Given the description of an element on the screen output the (x, y) to click on. 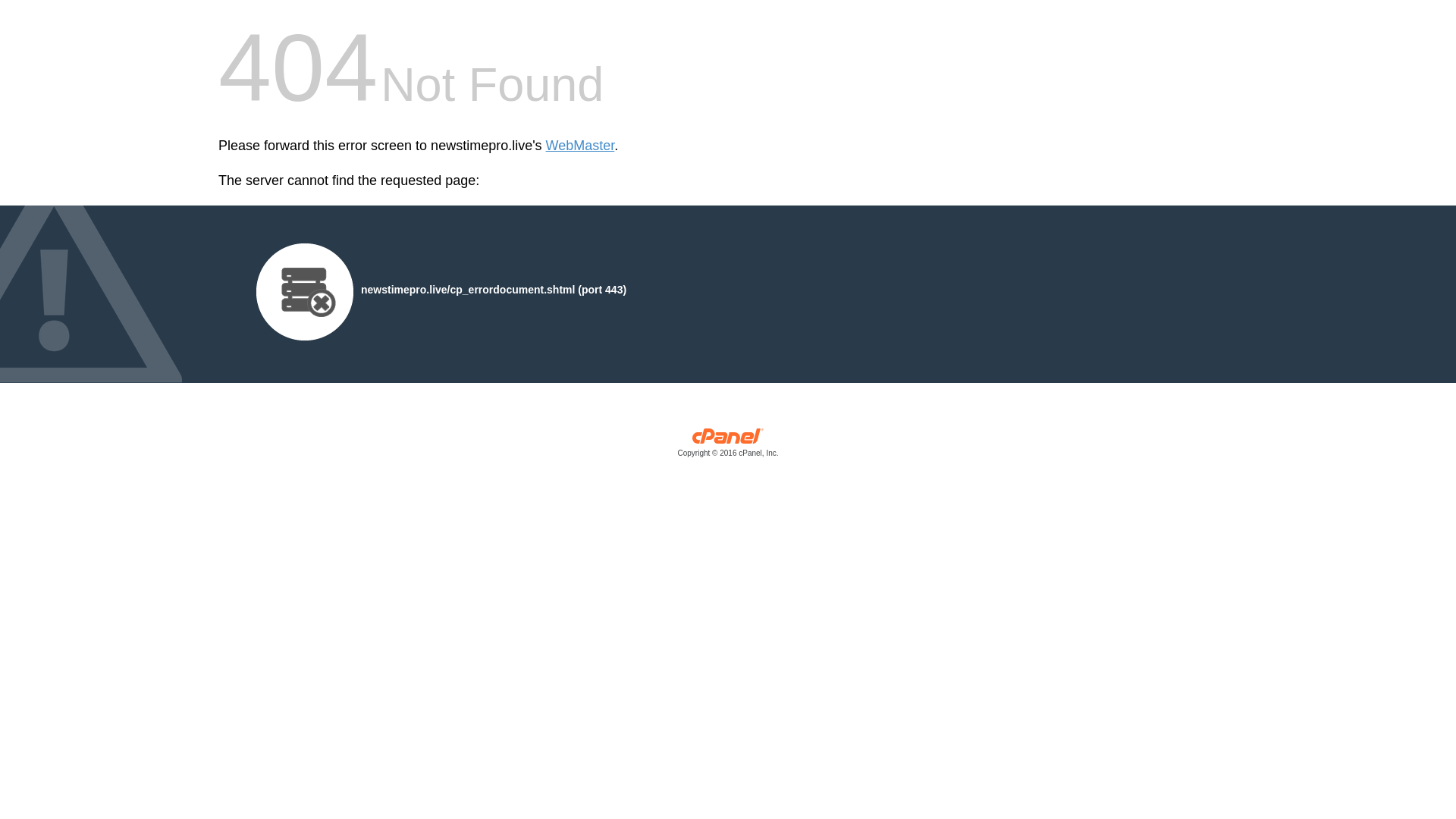
WebMaster (580, 145)
cPanel, Inc. (727, 446)
